Given the description of an element on the screen output the (x, y) to click on. 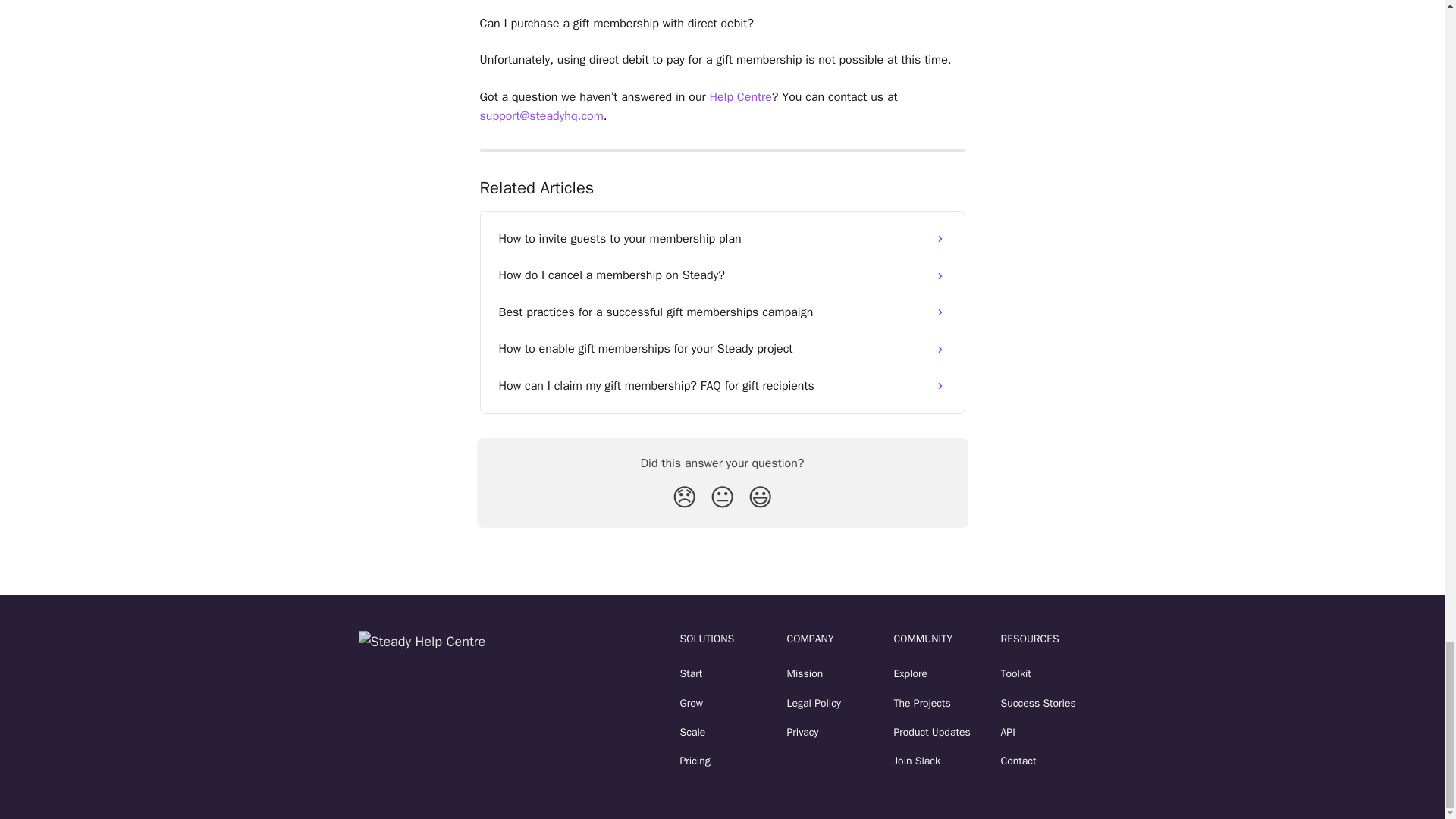
How to enable gift memberships for your Steady project (722, 348)
Mission (805, 673)
Legal Policy (814, 703)
Pricing (694, 760)
How to invite guests to your membership plan (722, 238)
Grow (690, 703)
Explore (909, 673)
Privacy (802, 731)
Best practices for a successful gift memberships campaign (722, 312)
Start (690, 673)
Help Centre (740, 96)
The Projects (921, 703)
How do I cancel a membership on Steady? (722, 275)
Scale (691, 731)
How can I claim my gift membership? FAQ for gift recipients (722, 385)
